Given the description of an element on the screen output the (x, y) to click on. 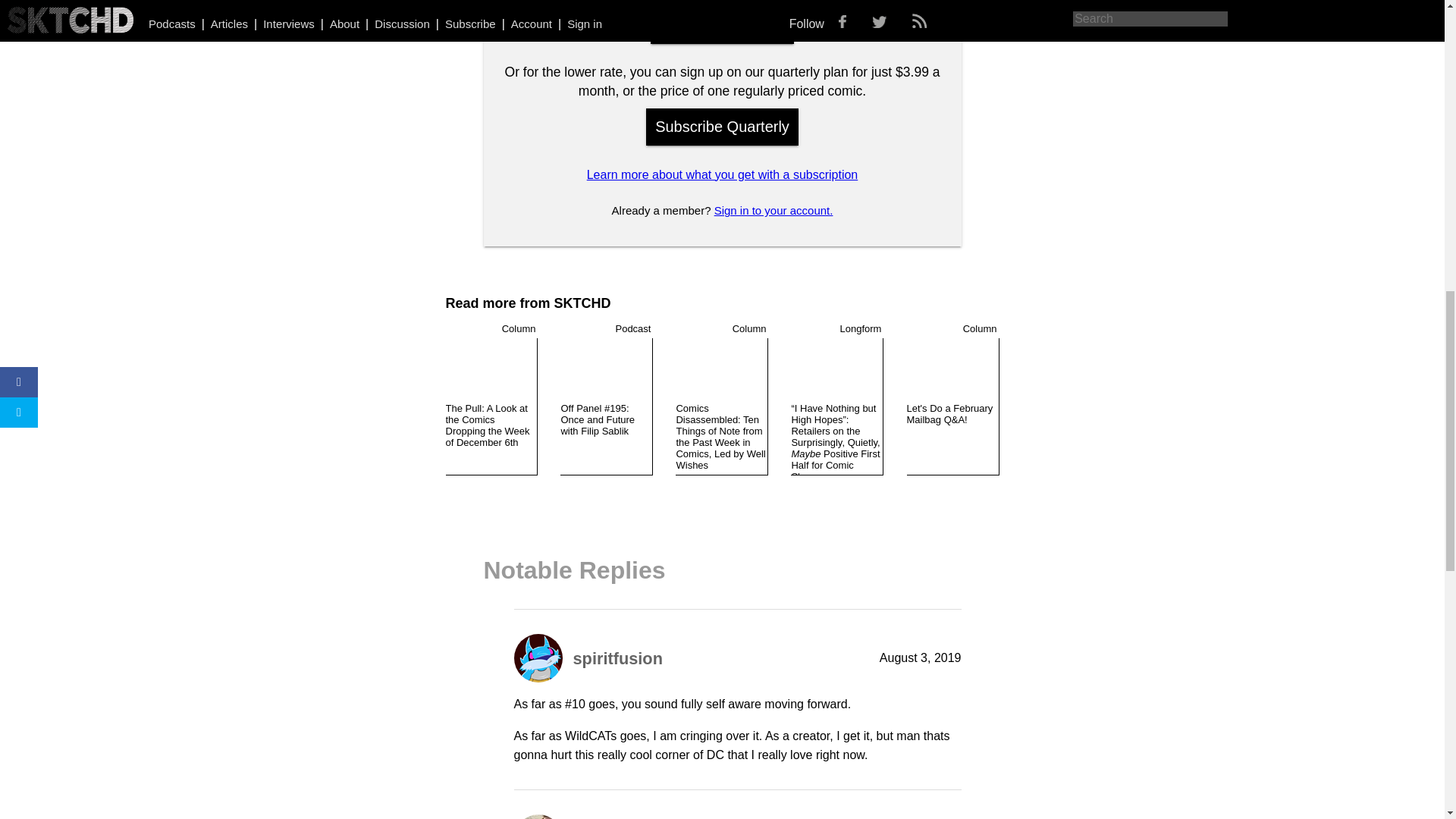
Subscribe Quarterly (721, 126)
Subscribe Monthly (721, 25)
Sign in to your account. (773, 210)
Learn more about what you get with a subscription (722, 174)
spiritfusion (617, 658)
